Given the description of an element on the screen output the (x, y) to click on. 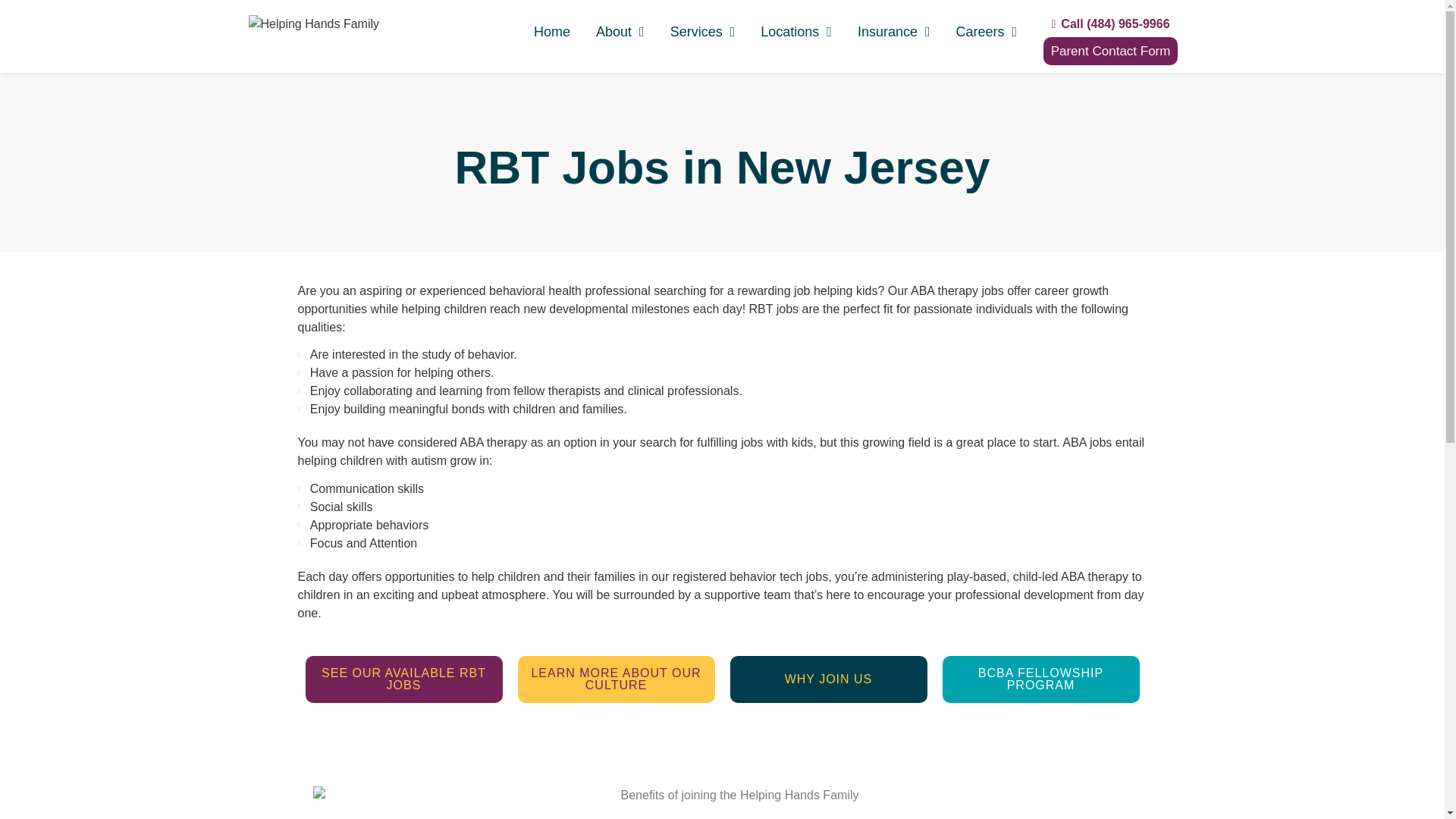
About (620, 31)
Home (551, 31)
Locations (796, 31)
Services (703, 31)
